Given the description of an element on the screen output the (x, y) to click on. 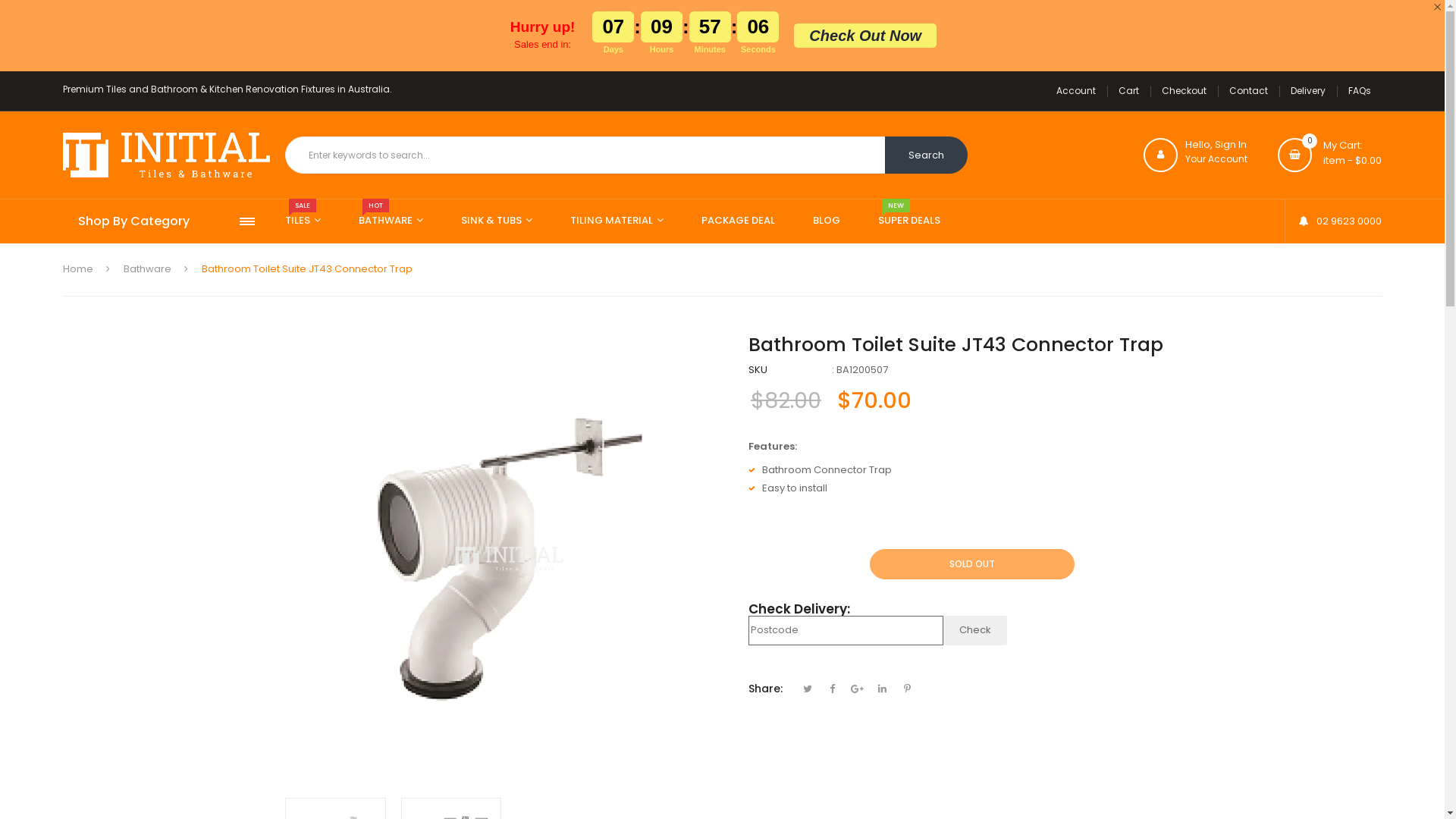
Search Element type: text (925, 154)
Home Element type: text (77, 268)
Bathware Element type: text (146, 268)
Check Out Now Element type: text (864, 35)
PACKAGE DEAL Element type: text (738, 220)
TILING MATERIAL Element type: text (616, 220)
FAQs Element type: text (1358, 90)
Account Element type: text (1075, 90)
BLOG Element type: text (826, 220)
SUPER DEALS
NEW Element type: text (909, 220)
Delivery Element type: text (1307, 90)
Contact Element type: text (1248, 90)
BATHWARE
HOT Element type: text (390, 220)
Check Element type: text (975, 630)
My Cart:
0
item
 - 
$0.00 Element type: text (1329, 155)
TILES
SALE Element type: text (302, 220)
Initial Tiles Element type: text (165, 154)
SOLD OUT Element type: text (971, 564)
Cart Element type: text (1128, 90)
Checkout Element type: text (1183, 90)
Your Account Element type: text (1216, 158)
SINK & TUBS Element type: text (496, 220)
